Given the description of an element on the screen output the (x, y) to click on. 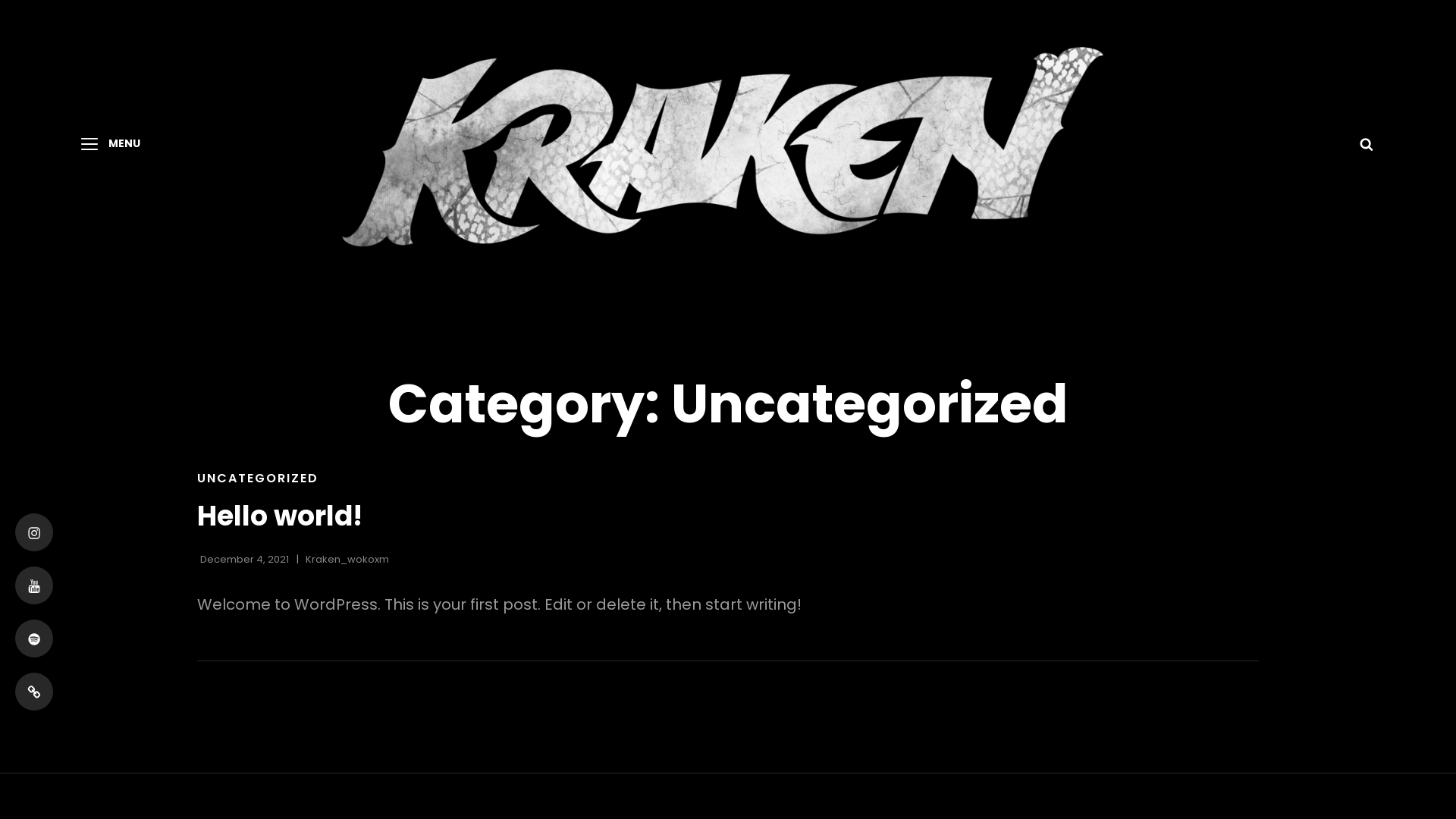
December 4, 2021 Element type: text (244, 559)
Instagram Element type: text (34, 532)
MENU Element type: text (110, 143)
Kraken_Wokoxm Element type: text (347, 559)
YouTube Element type: text (34, 585)
UNCATEGORIZED Element type: text (257, 477)
bandcamp Element type: text (34, 691)
Spotify Element type: text (34, 638)
KRAKEN Element type: text (1161, 156)
Hello world! Element type: text (279, 515)
Search Element type: text (1366, 142)
